Given the description of an element on the screen output the (x, y) to click on. 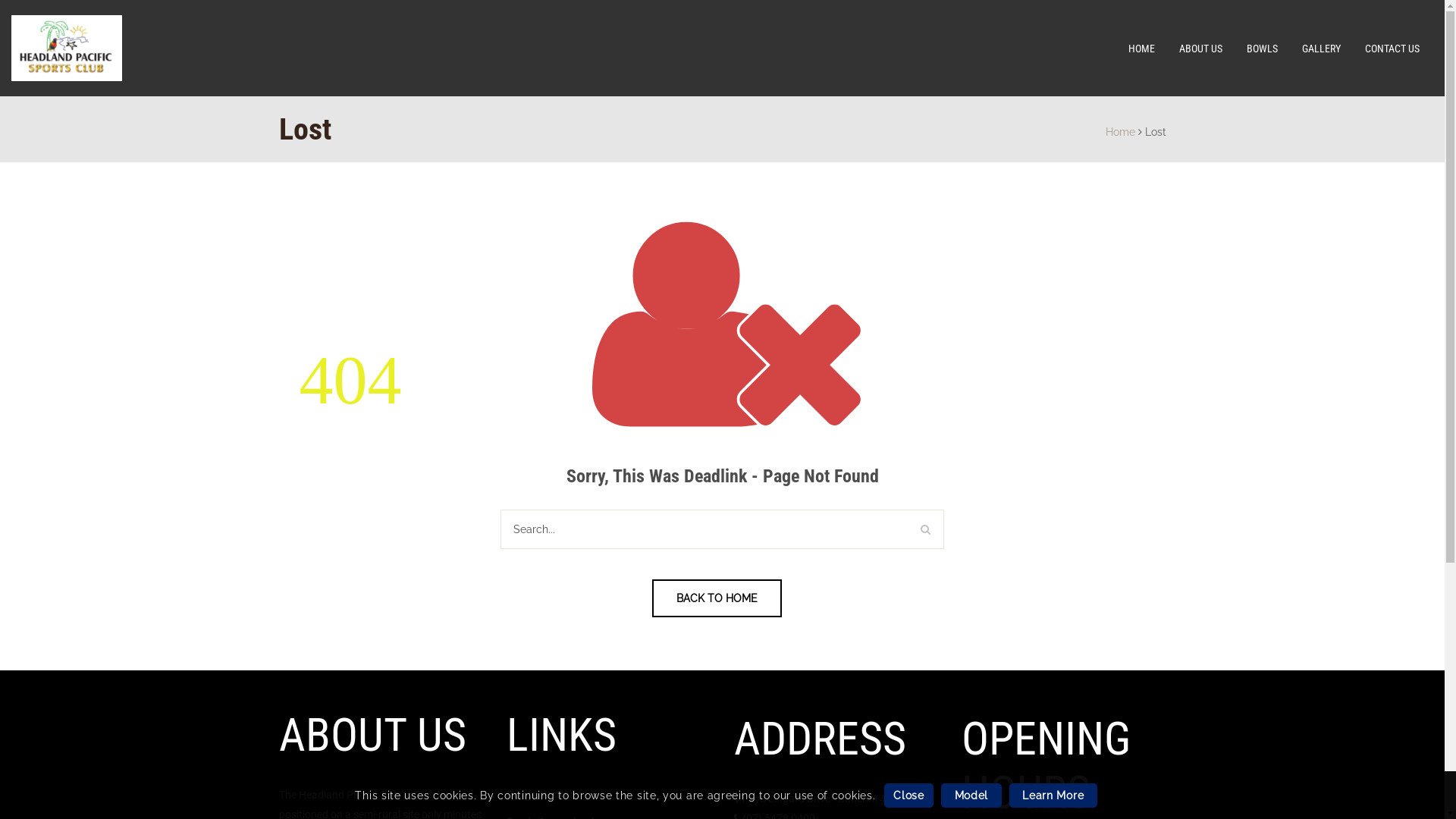
Close Element type: text (908, 795)
CONTACT US Element type: text (1392, 48)
HOME Element type: text (1141, 48)
Learn More Element type: text (1053, 795)
Go Element type: text (925, 529)
GALLERY Element type: text (1321, 48)
BOWLS Element type: text (1261, 48)
BACK TO HOME Element type: text (716, 598)
Home Element type: text (1120, 131)
Bowls Australia Element type: text (543, 794)
Model Element type: text (971, 795)
ABOUT US Element type: text (1200, 48)
